Given the description of an element on the screen output the (x, y) to click on. 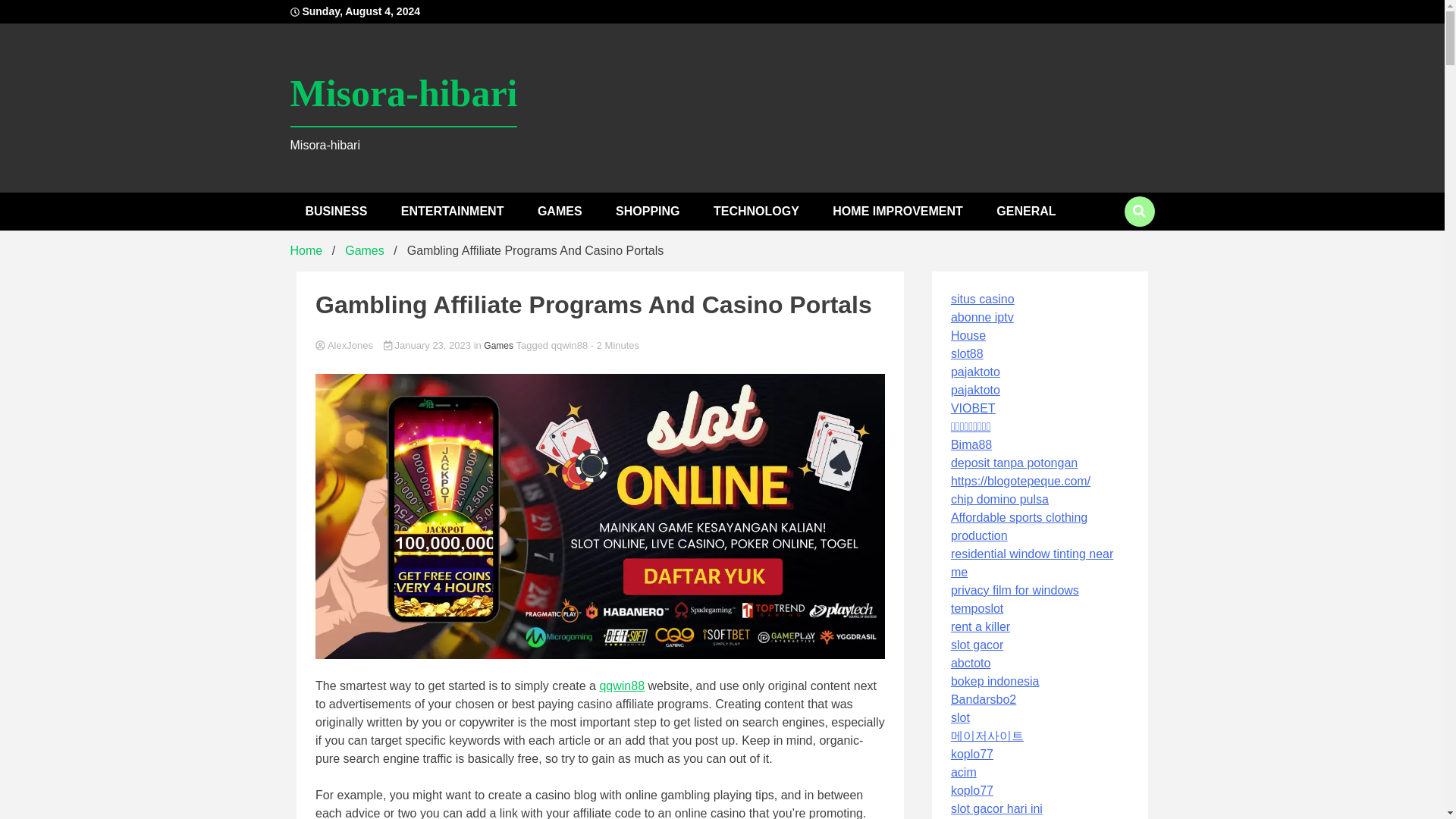
BUSINESS (335, 211)
Estimated Reading Time of Article (615, 345)
January 23, 2023 (429, 345)
slot88 (967, 353)
Games (364, 250)
House (967, 335)
abonne iptv (981, 317)
pajaktoto (975, 371)
Games (498, 345)
Home (305, 250)
situs casino (982, 298)
GENERAL (1025, 211)
GAMES (559, 211)
qqwin88 (569, 345)
qqwin88 (621, 685)
